Given the description of an element on the screen output the (x, y) to click on. 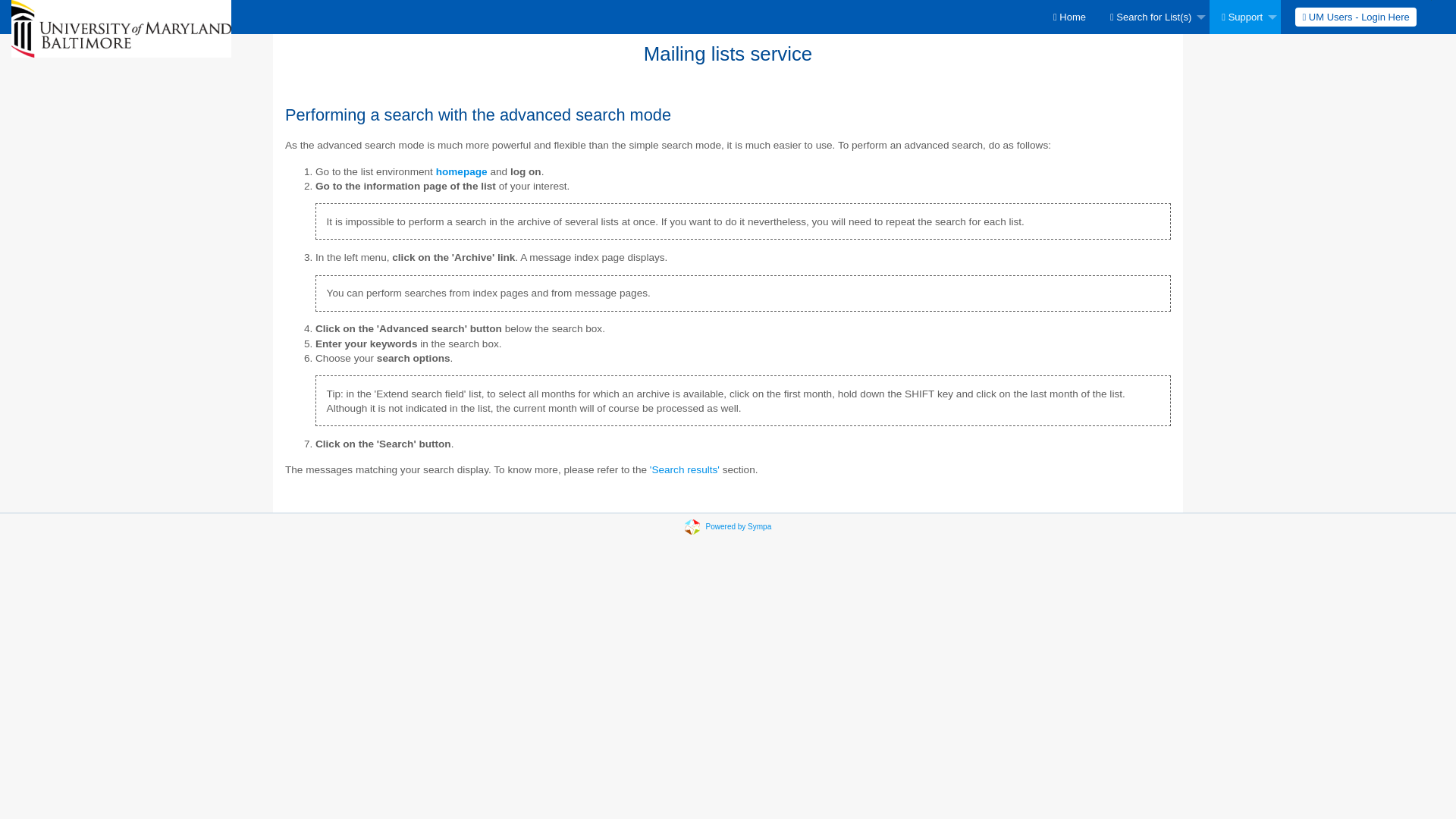
Home (1069, 17)
'Search results' (684, 469)
UM Users - Login Here (1355, 16)
Support (1245, 17)
Powered by Sympa (738, 526)
homepage (461, 171)
